Given the description of an element on the screen output the (x, y) to click on. 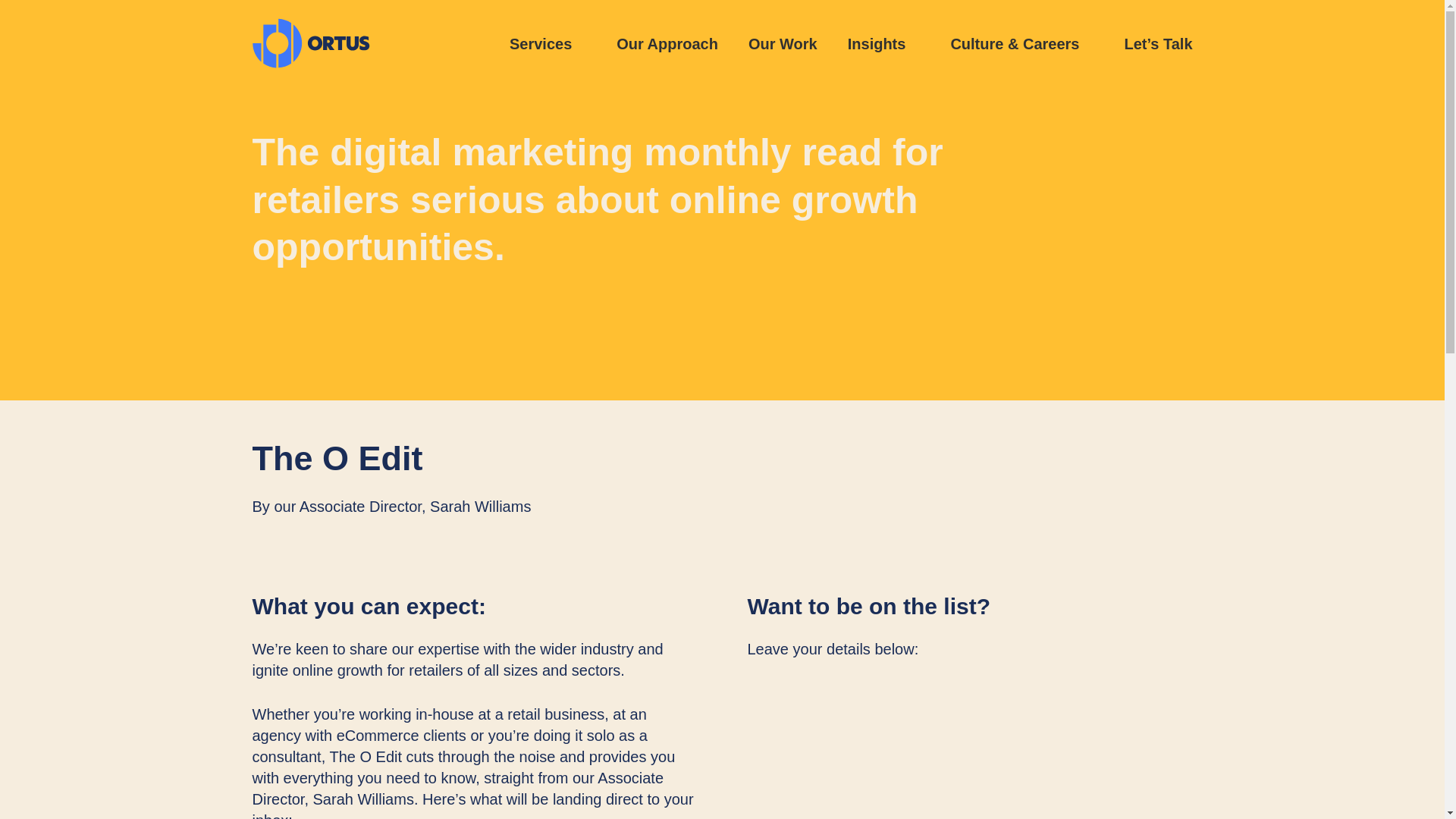
Our Approach (666, 43)
Our Work (782, 43)
Services (547, 43)
Insights (883, 43)
